Given the description of an element on the screen output the (x, y) to click on. 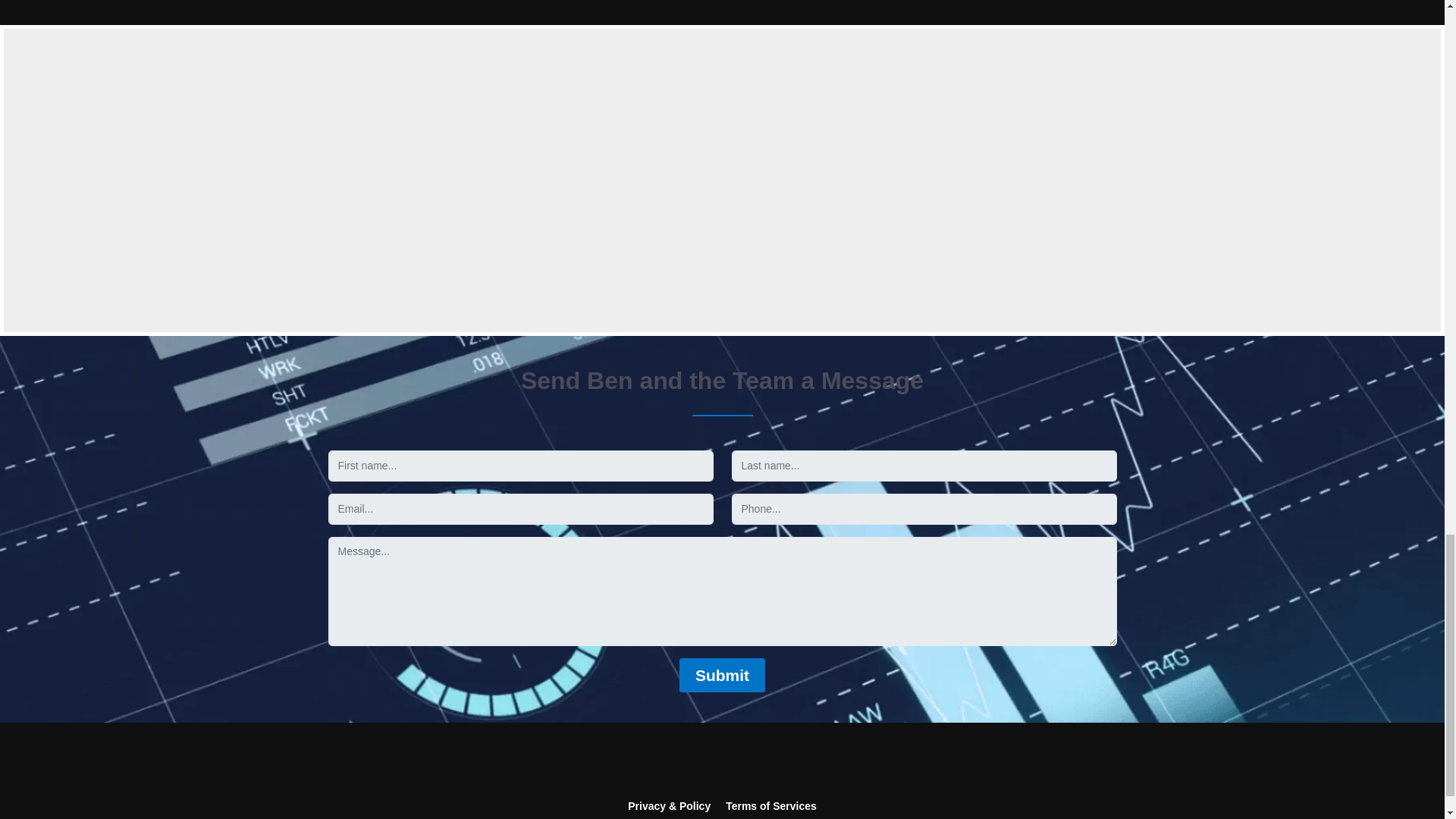
Submit (722, 675)
Terms of Services (770, 805)
